Given the description of an element on the screen output the (x, y) to click on. 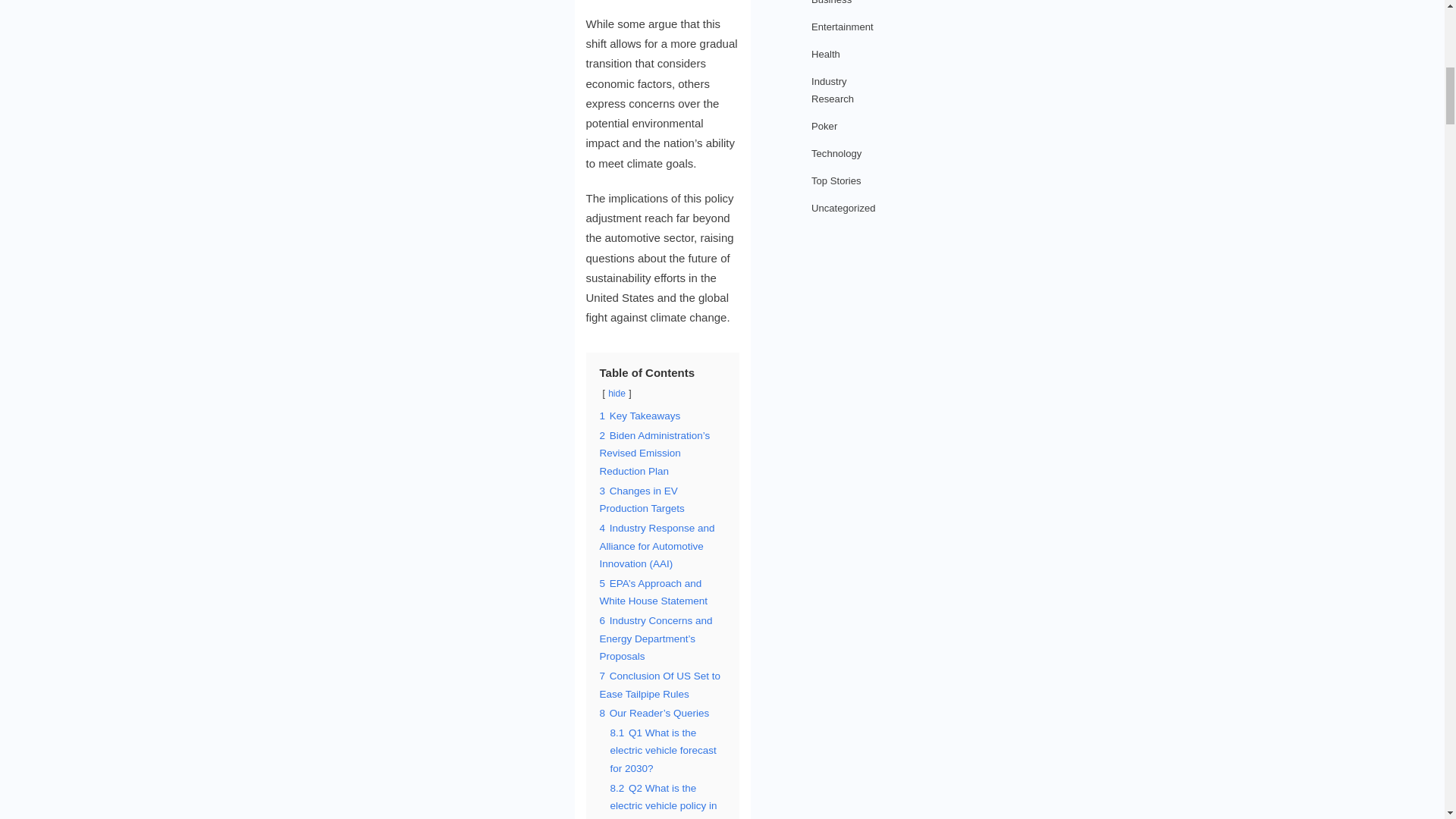
hide (617, 393)
3 Changes in EV Production Targets (641, 500)
8.1 Q1 What is the electric vehicle forecast for 2030? (663, 750)
7 Conclusion Of US Set to Ease Tailpipe Rules (659, 685)
1 Key Takeaways (638, 415)
